Given the description of an element on the screen output the (x, y) to click on. 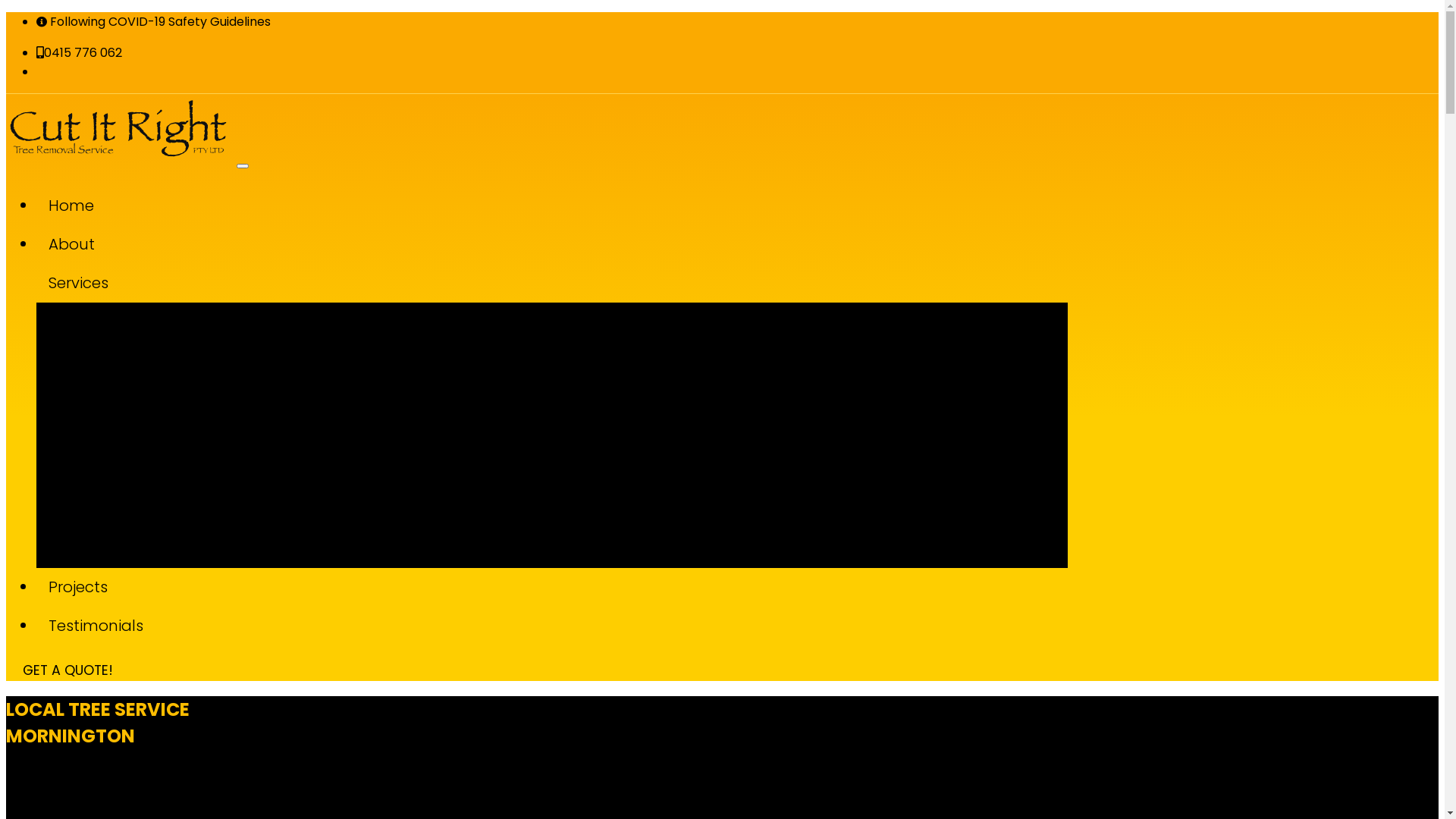
Projects Element type: text (551, 586)
Tree Bracing (Safety Cabling) Element type: text (566, 554)
Weight Reduction / Tip Pruning Element type: text (566, 474)
About Element type: text (551, 244)
Hedging Service Element type: text (566, 501)
Powerline Tree Clearance Element type: text (566, 395)
Deadwood Removal Element type: text (566, 421)
0415 776 062 Element type: text (79, 52)
Services Element type: text (551, 282)
Testimonials Element type: text (551, 625)
Fence Clearance Element type: text (566, 342)
Tree Pruning Mornington Element type: text (566, 368)
GET A QUOTE! Element type: text (68, 670)
Pest & Disease Inspection Element type: text (566, 527)
Tree Removal Services Element type: text (566, 315)
Consultant Reports Element type: text (566, 448)
Home Element type: text (551, 205)
